Given the description of an element on the screen output the (x, y) to click on. 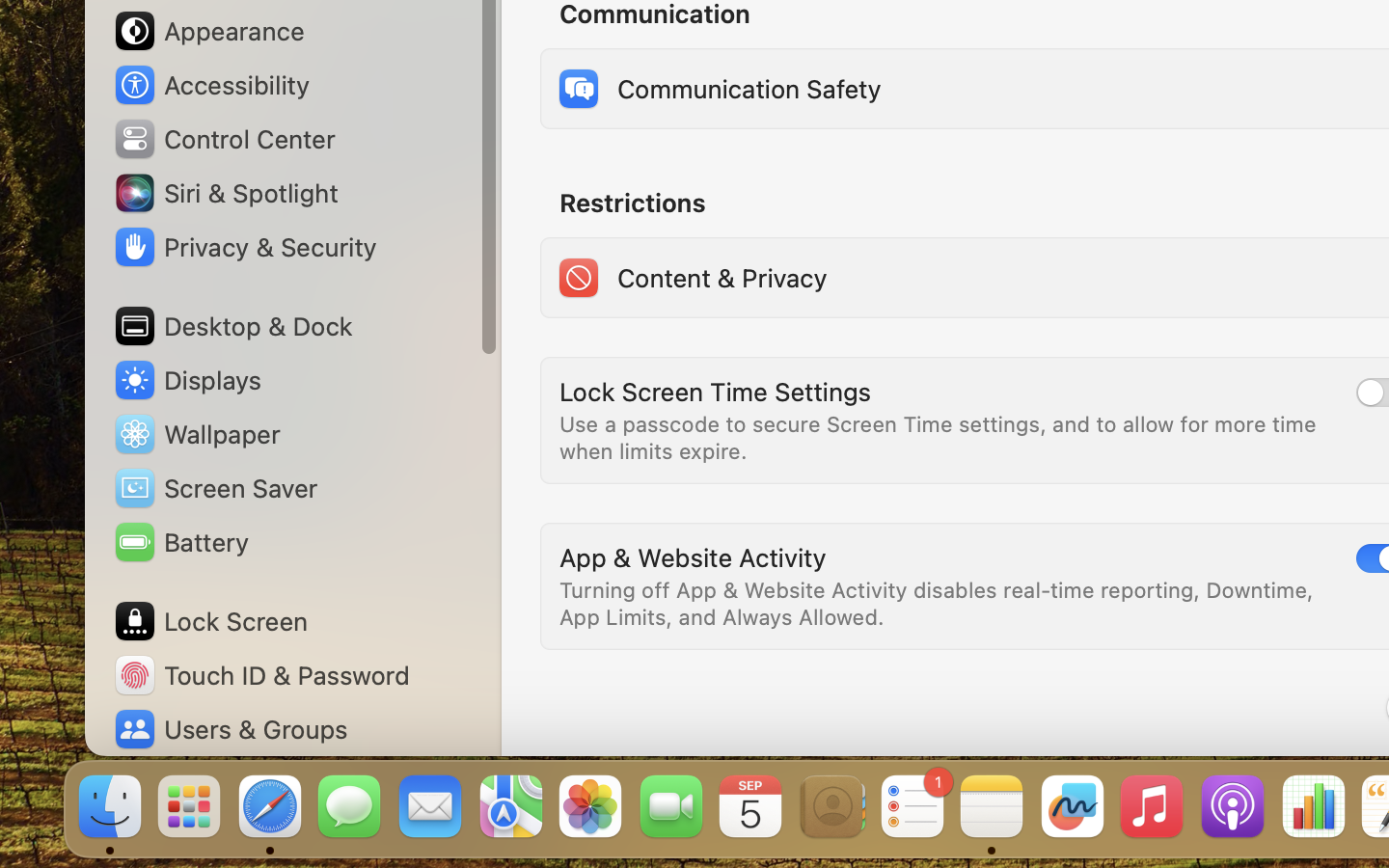
Control Center Element type: AXStaticText (223, 138)
App & Website Activity Element type: AXStaticText (692, 557)
Battery Element type: AXStaticText (179, 541)
Users & Groups Element type: AXStaticText (229, 728)
Displays Element type: AXStaticText (186, 379)
